Given the description of an element on the screen output the (x, y) to click on. 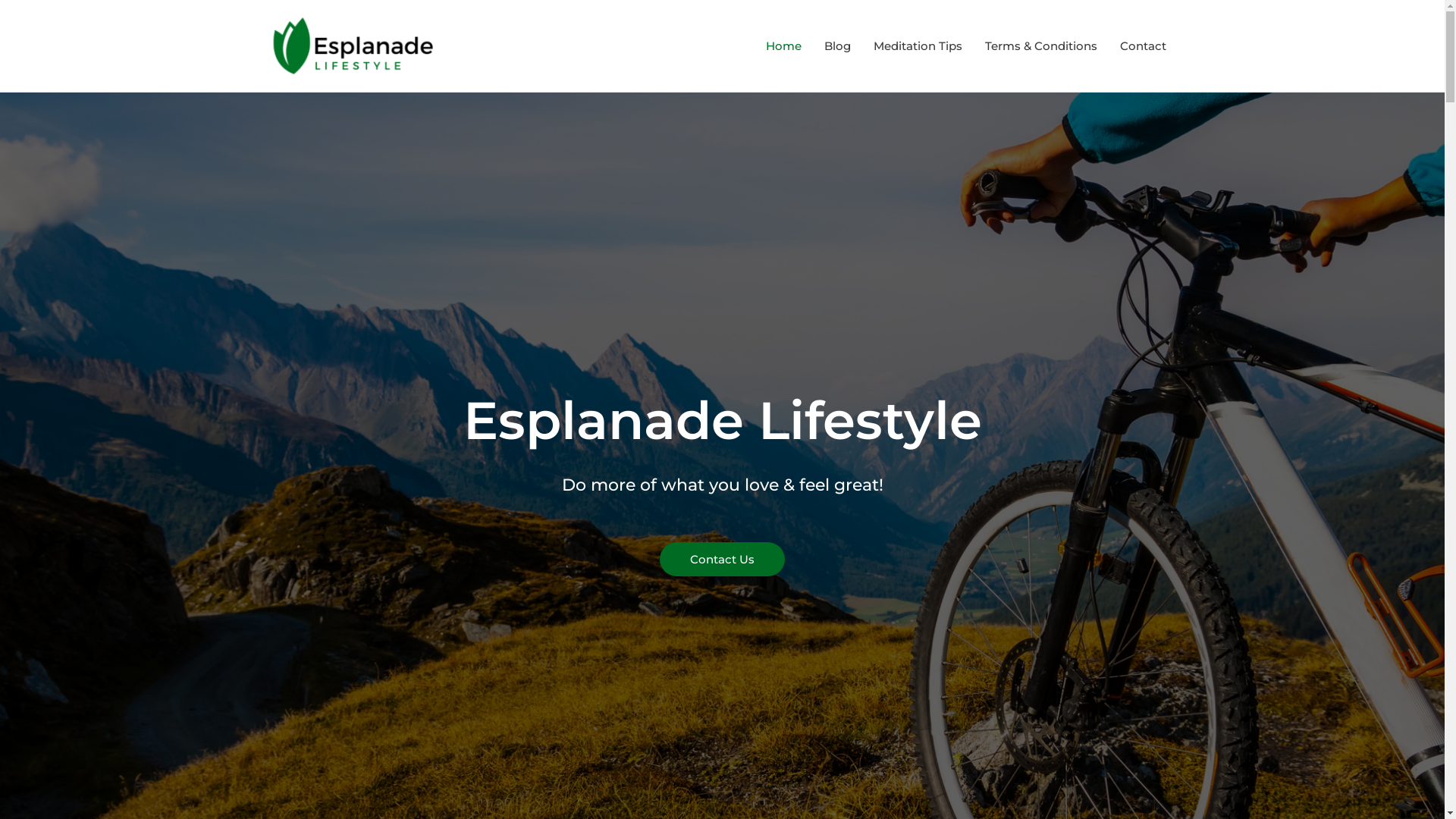
Contact Us Element type: text (721, 559)
Contact Element type: text (1142, 45)
Terms & Conditions Element type: text (1040, 45)
Meditation Tips Element type: text (916, 45)
Blog Element type: text (837, 45)
Home Element type: text (782, 45)
